Given the description of an element on the screen output the (x, y) to click on. 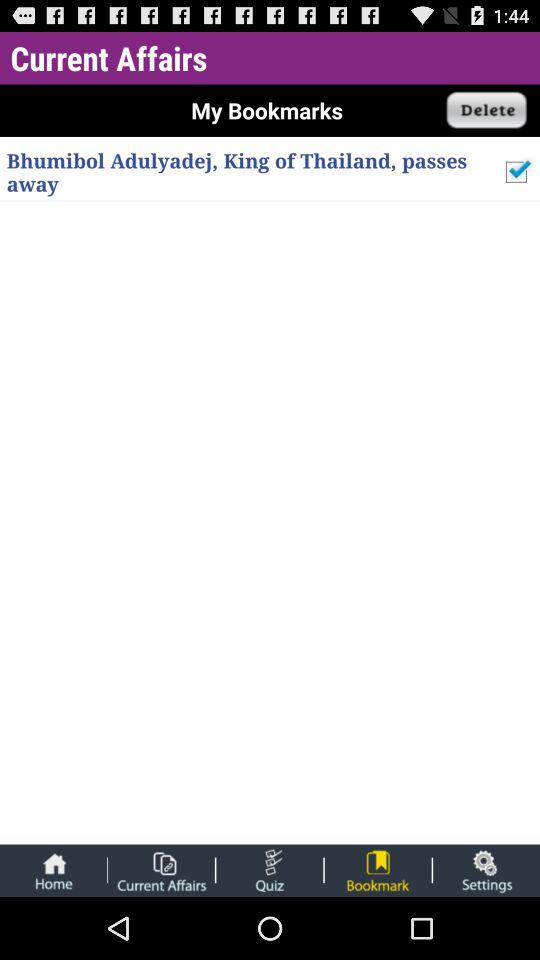
delete option (487, 109)
